Given the description of an element on the screen output the (x, y) to click on. 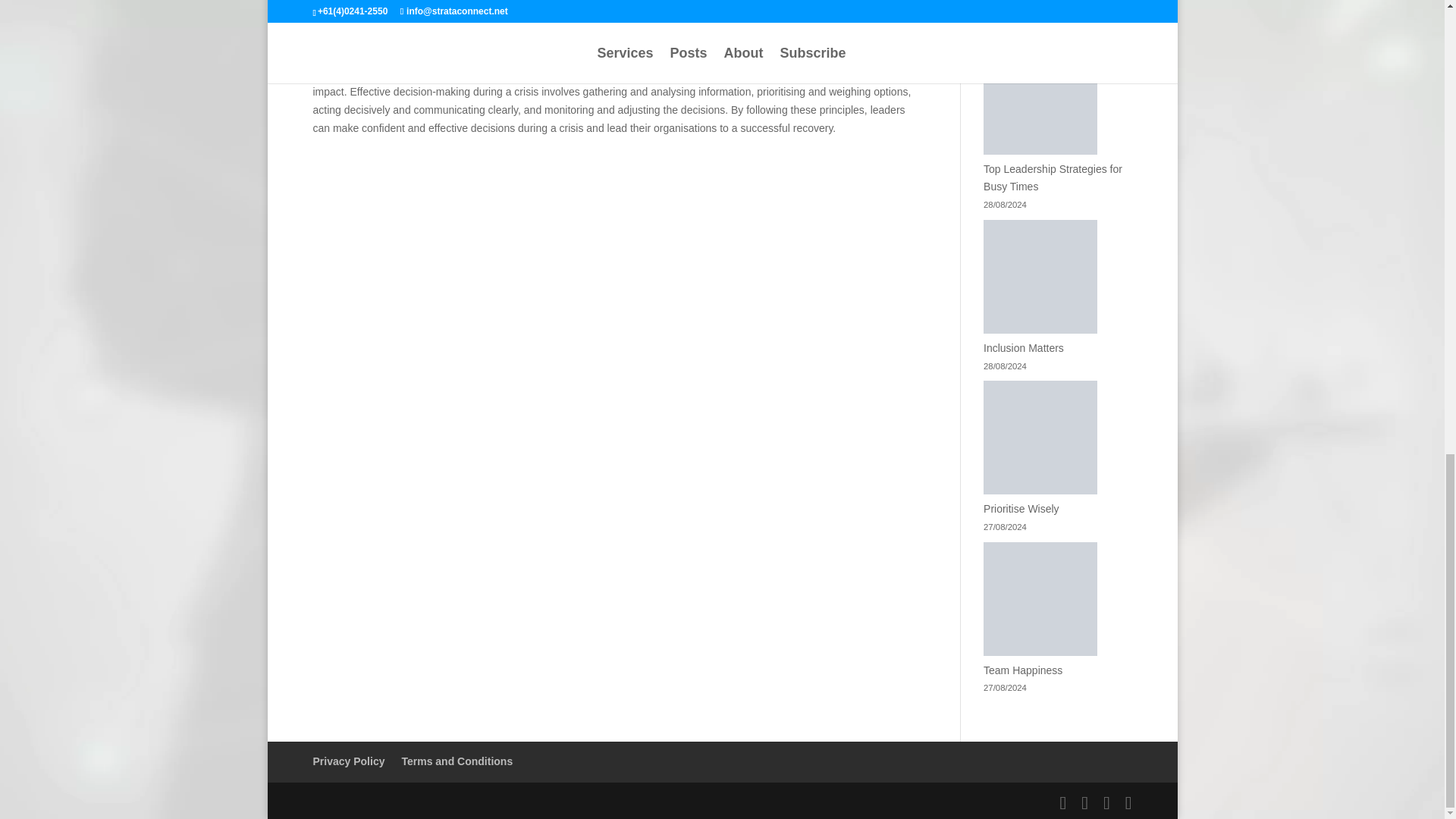
Top Leadership Strategies for Busy Times (1053, 177)
The Power of Trust: Share Your Story! (1057, 36)
Privacy Policy (348, 761)
Prioritise Wisely (1021, 508)
Terms and Conditions (456, 761)
Team Happiness (1023, 670)
Inclusion Matters (1024, 347)
